Given the description of an element on the screen output the (x, y) to click on. 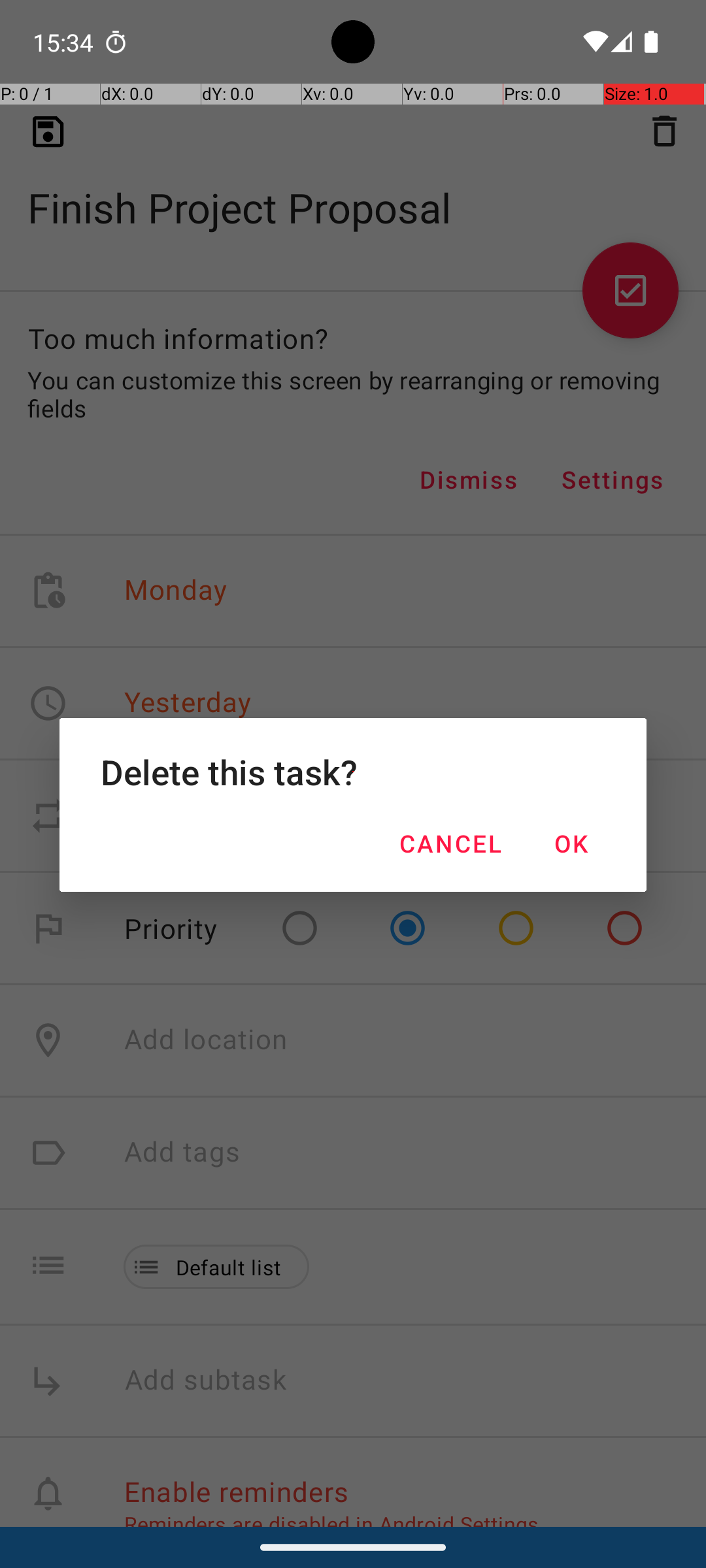
Delete this task? Element type: android.widget.TextView (352, 771)
